Given the description of an element on the screen output the (x, y) to click on. 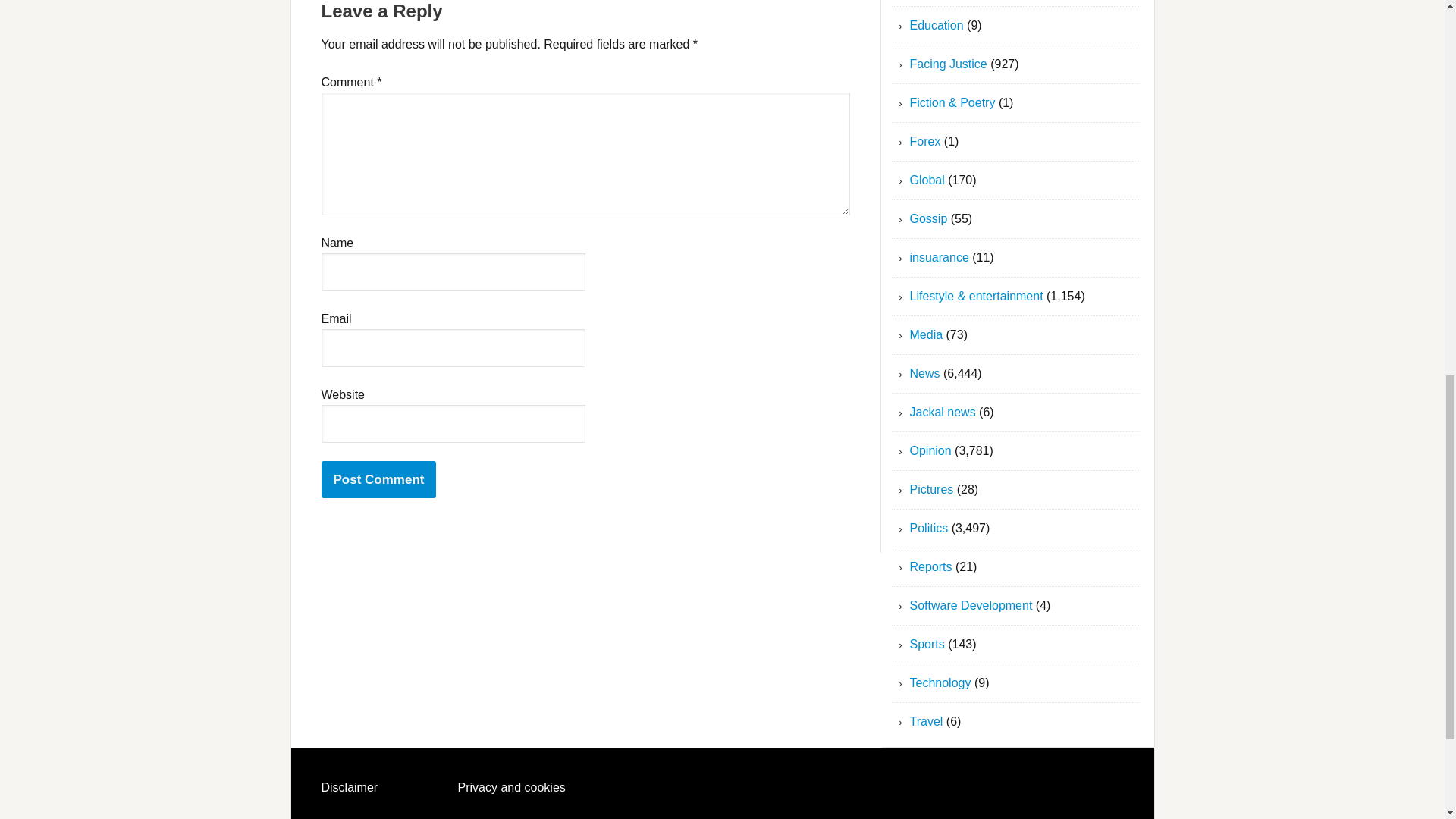
Global (927, 179)
Pictures (931, 489)
Opinion (931, 450)
Politics (929, 527)
Forex (925, 141)
Facing Justice (948, 63)
Media (926, 334)
Education (936, 24)
Reports (931, 566)
Post Comment (378, 479)
News (925, 373)
Gossip (928, 218)
Jackal news (942, 411)
insuarance (939, 256)
Post Comment (378, 479)
